Given the description of an element on the screen output the (x, y) to click on. 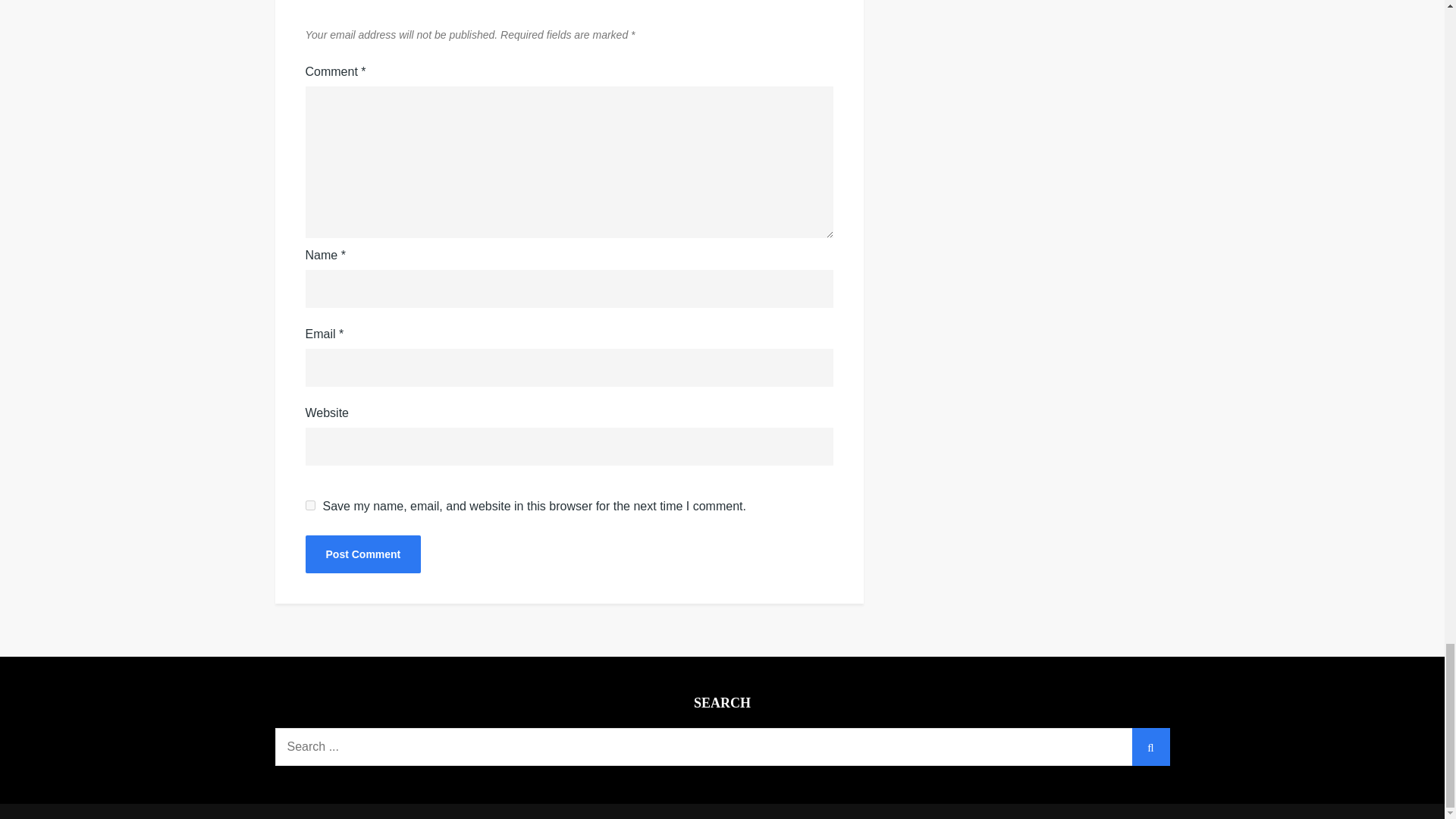
Post Comment (362, 554)
Post Comment (362, 554)
yes (309, 505)
Search for: (722, 746)
